Given the description of an element on the screen output the (x, y) to click on. 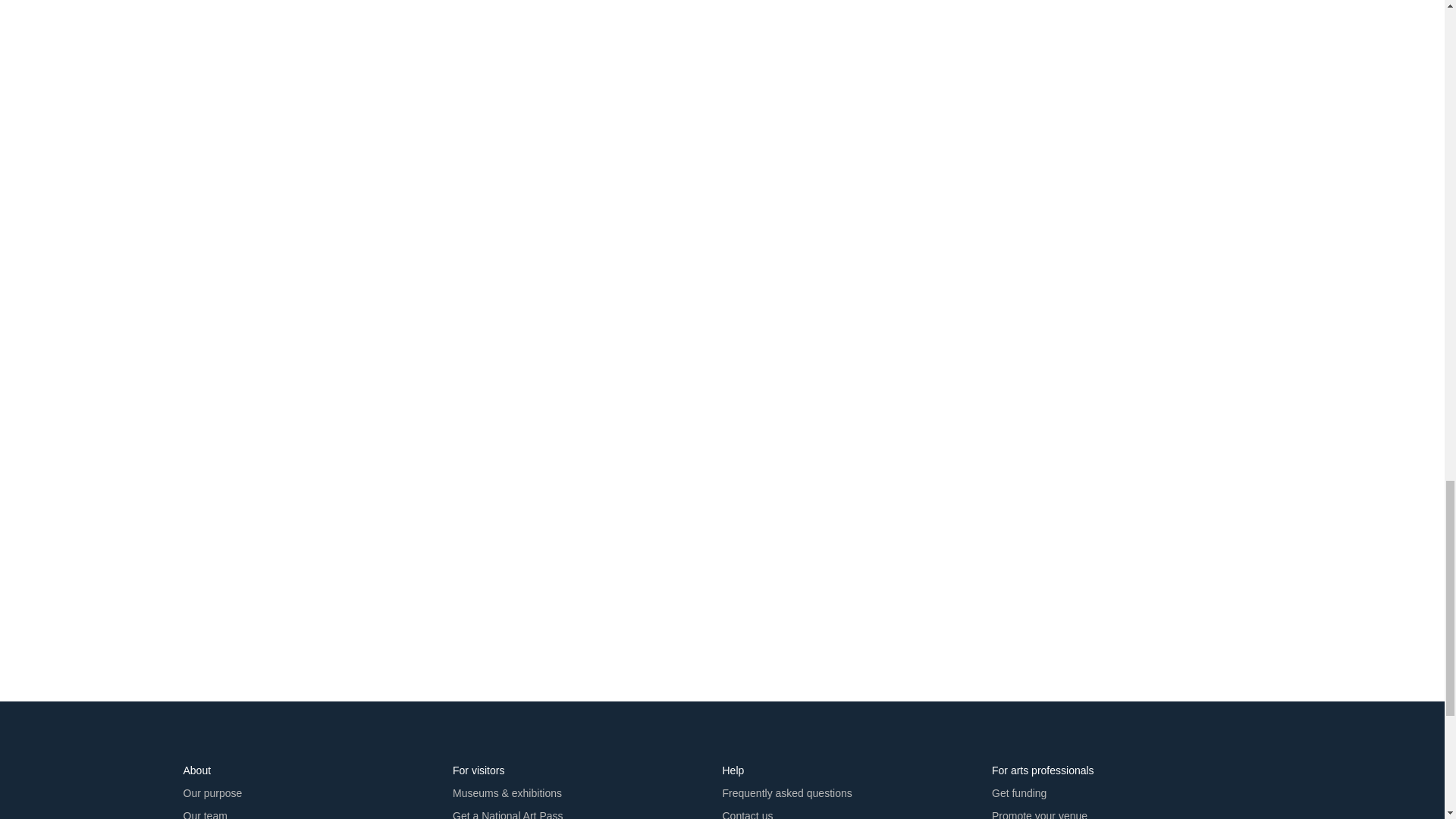
Frequently asked questions (786, 792)
Contact us (747, 813)
Get funding (1018, 792)
Our team (205, 813)
Our purpose (213, 792)
Get a National Art Pass (507, 813)
Promote your venue (1039, 813)
